Given the description of an element on the screen output the (x, y) to click on. 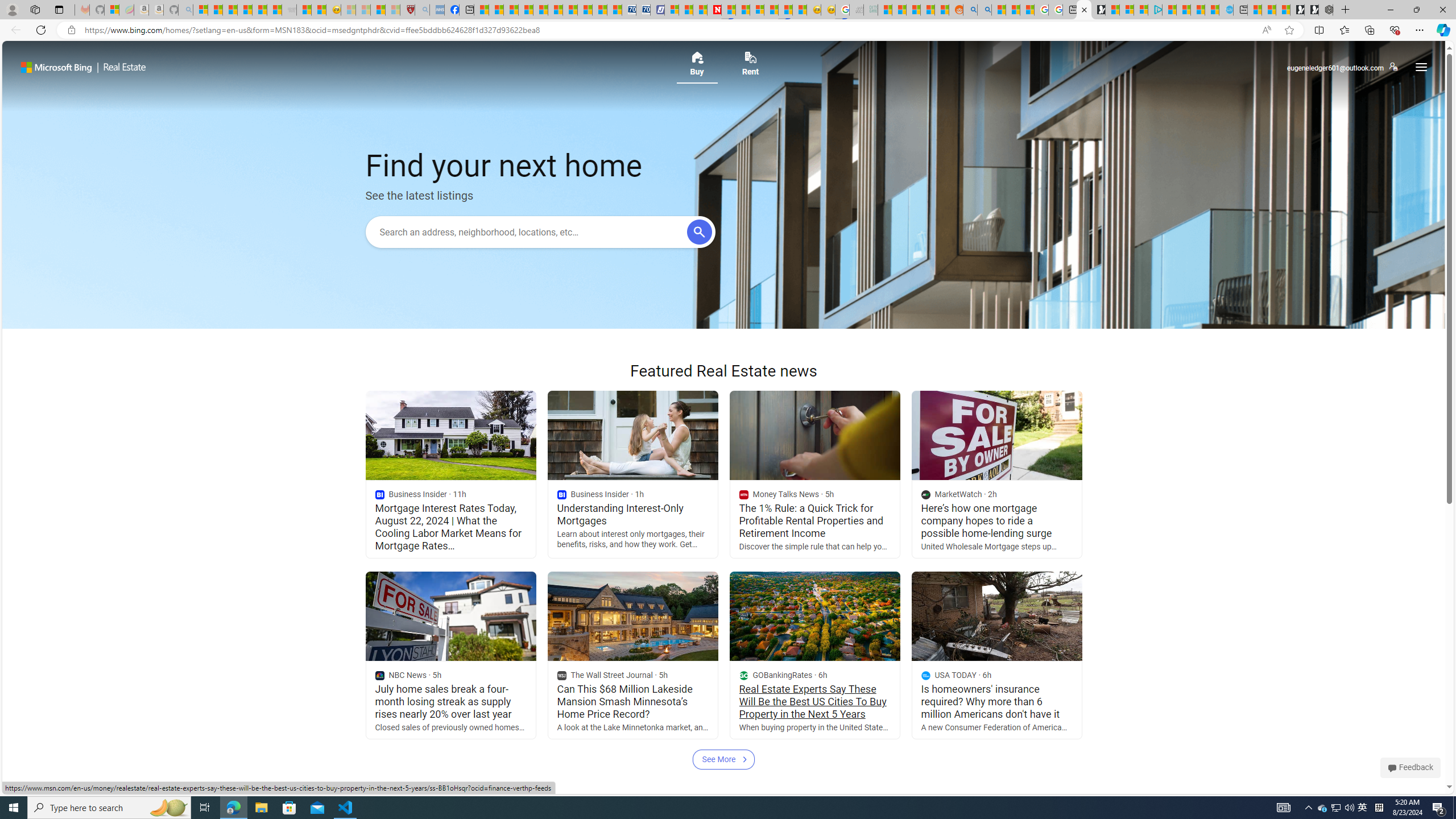
Rent (750, 66)
Combat Siege - Sleeping (288, 9)
See More (723, 759)
New Report Confirms 2023 Was Record Hot | Watch (259, 9)
